Given the description of an element on the screen output the (x, y) to click on. 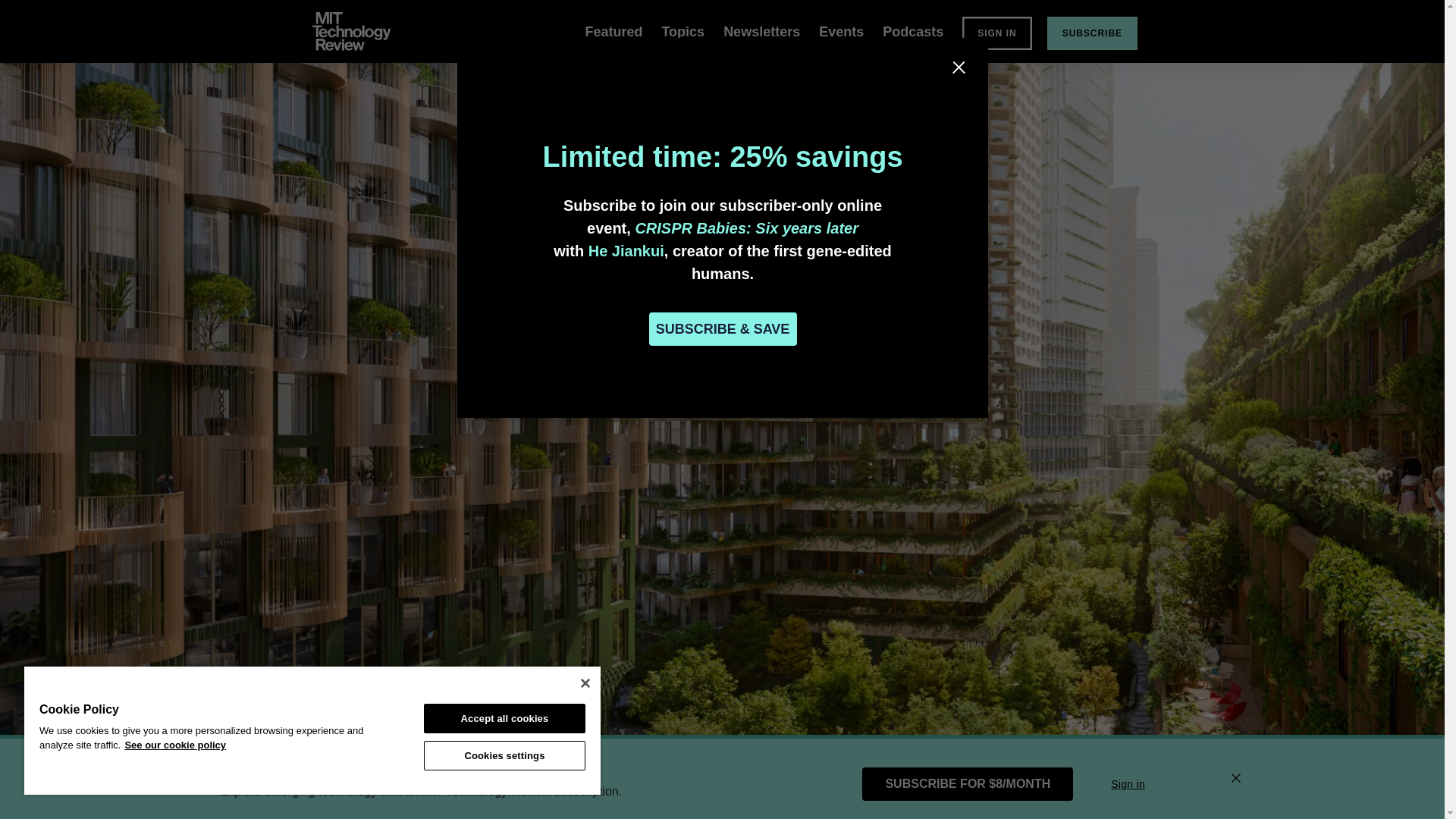
Topics (682, 31)
Events (840, 31)
Featured (613, 31)
Podcasts (912, 31)
SUBSCRIBE (1091, 32)
SIGN IN (996, 32)
Newsletters (761, 31)
MIT Technology Review (352, 31)
